Given the description of an element on the screen output the (x, y) to click on. 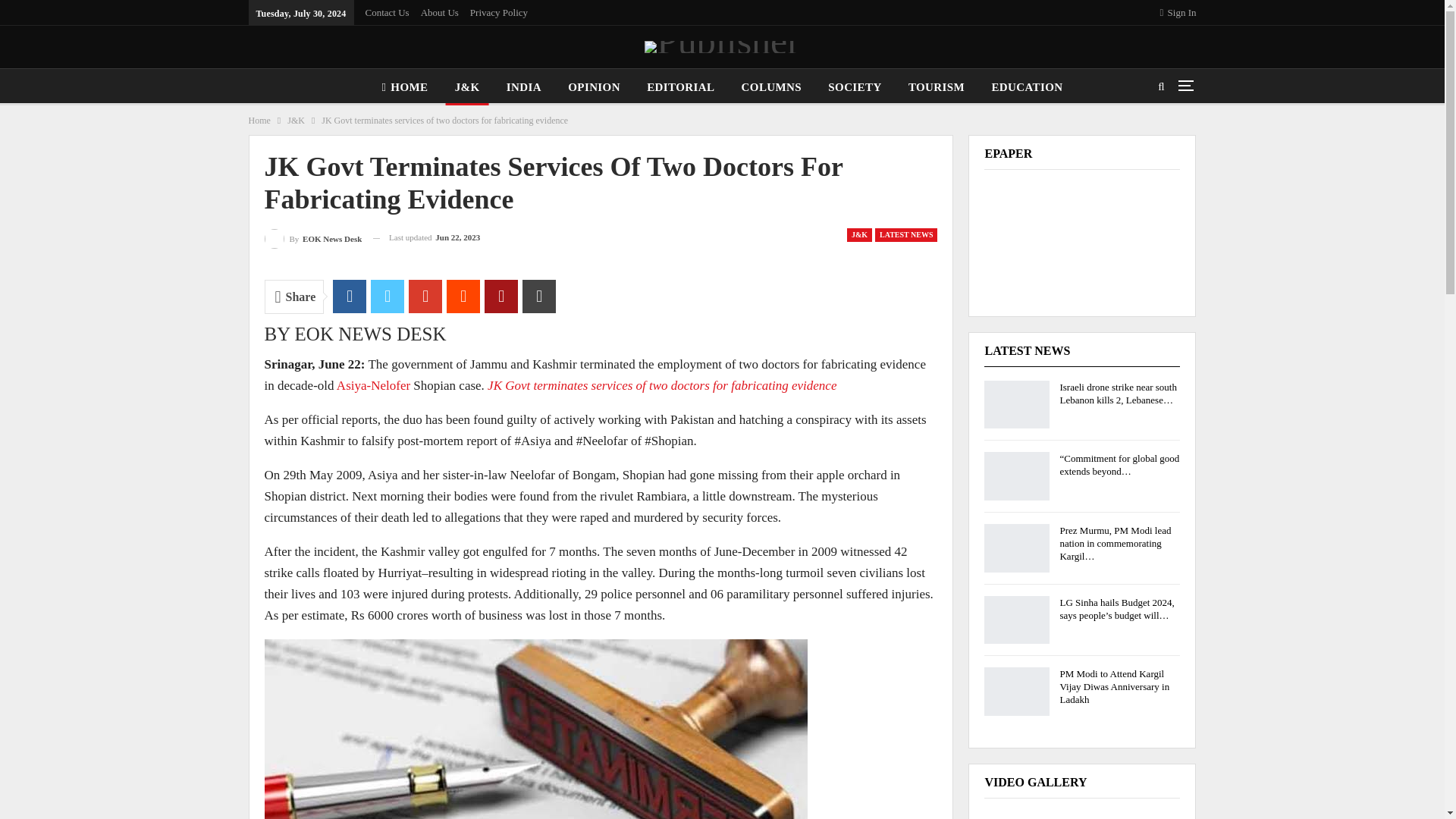
HOME (404, 86)
Home (259, 120)
LATEST NEWS (906, 234)
Asiya-Nelofer (373, 385)
By EOK News Desk (312, 237)
EDITORIAL (680, 86)
INDIA (523, 86)
OPINION (593, 86)
COLUMNS (771, 86)
Sign In (1178, 12)
Browse Author Articles (312, 237)
TOURISM (936, 86)
Contact Us (387, 12)
